Given the description of an element on the screen output the (x, y) to click on. 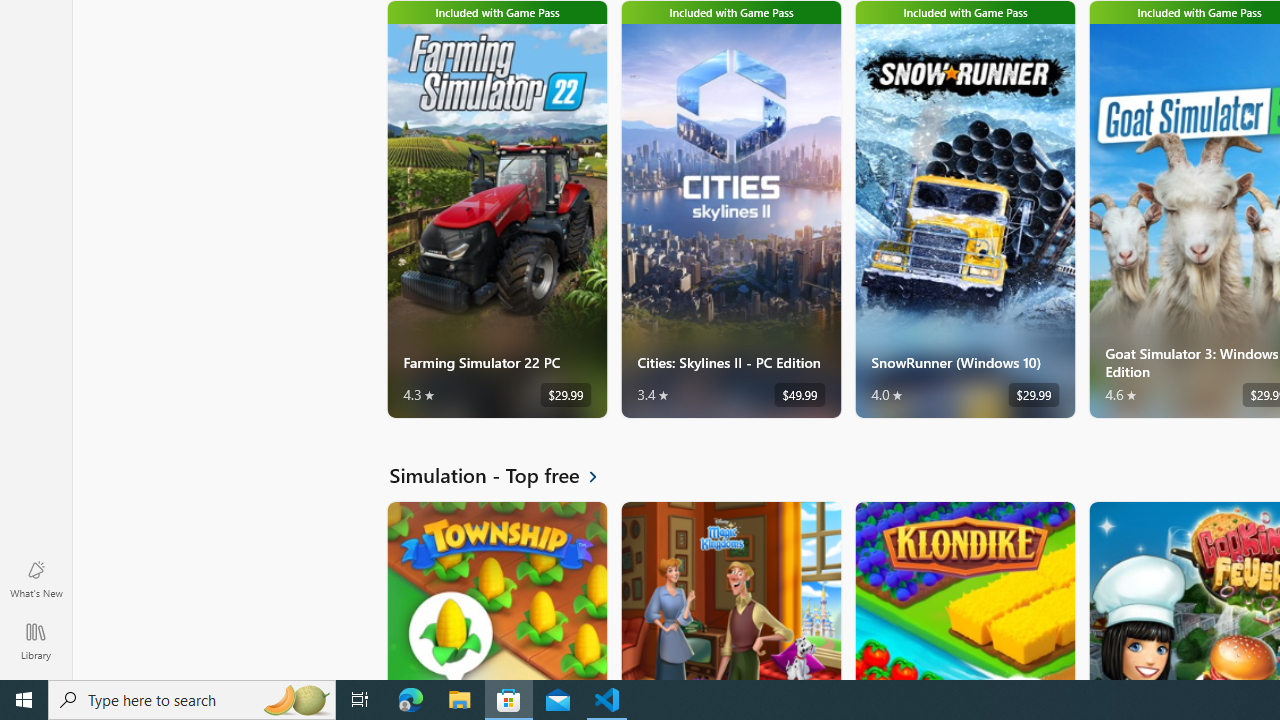
Library (35, 640)
Township. Average rating of 4.5 out of five stars. Free   (497, 590)
What's New (35, 578)
See all  Simulation - Top free (505, 475)
